Given the description of an element on the screen output the (x, y) to click on. 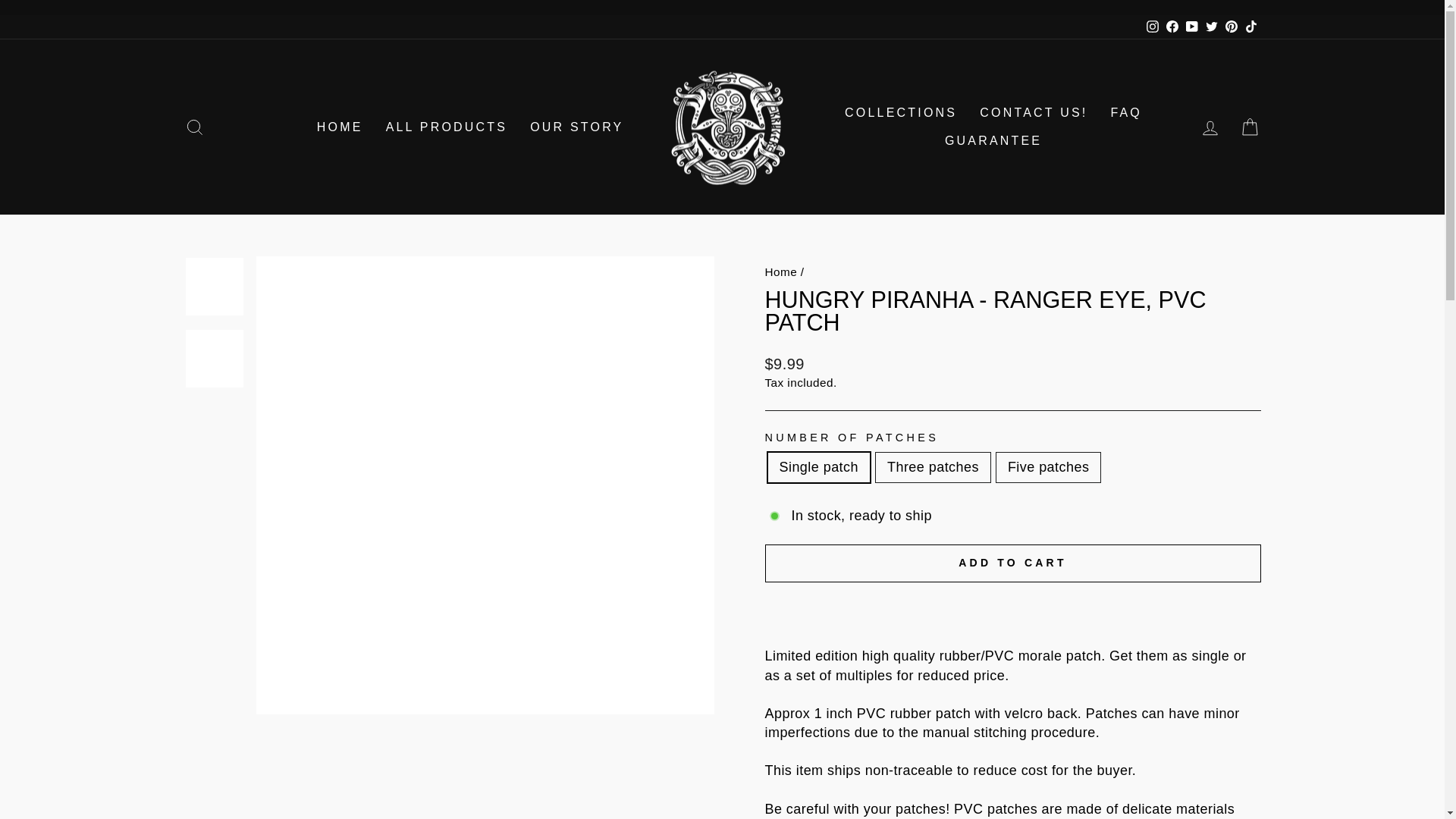
YouTube (1190, 26)
Kruger EDC on TikTok (1250, 26)
Kruger EDC on Instagram (1151, 26)
Back to the frontpage (780, 271)
Kruger EDC on Twitter (1211, 26)
ALL PRODUCTS (446, 126)
Facebook (1170, 26)
LOG IN (1210, 126)
Instagram (1151, 26)
Kruger EDC on YouTube (1190, 26)
OUR STORY (576, 126)
HOME (339, 126)
Kruger EDC on Pinterest (1230, 26)
